Given the description of an element on the screen output the (x, y) to click on. 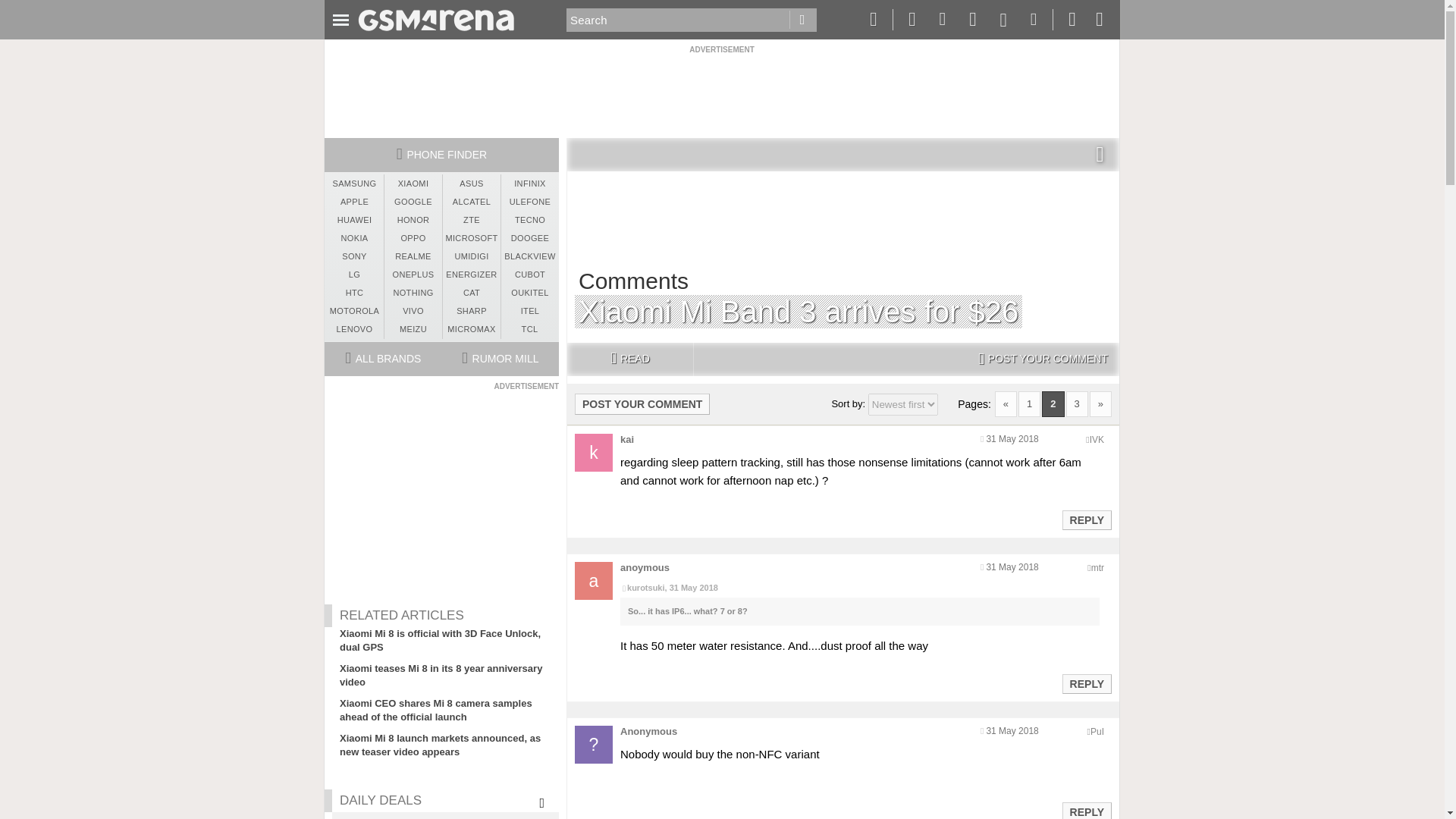
REPLY (1086, 683)
3 (1076, 403)
Encoded anonymized location (1096, 731)
READ (630, 359)
Reply to this post (1086, 520)
Sort comments by (902, 404)
POST YOUR COMMENT (642, 403)
REPLY (1086, 520)
POST YOUR COMMENT (1042, 359)
Next page (1100, 403)
1 (1029, 403)
Reply to this post (1086, 684)
Reply to this post (1086, 811)
Go (802, 19)
Encoded anonymized location (1096, 567)
